Given the description of an element on the screen output the (x, y) to click on. 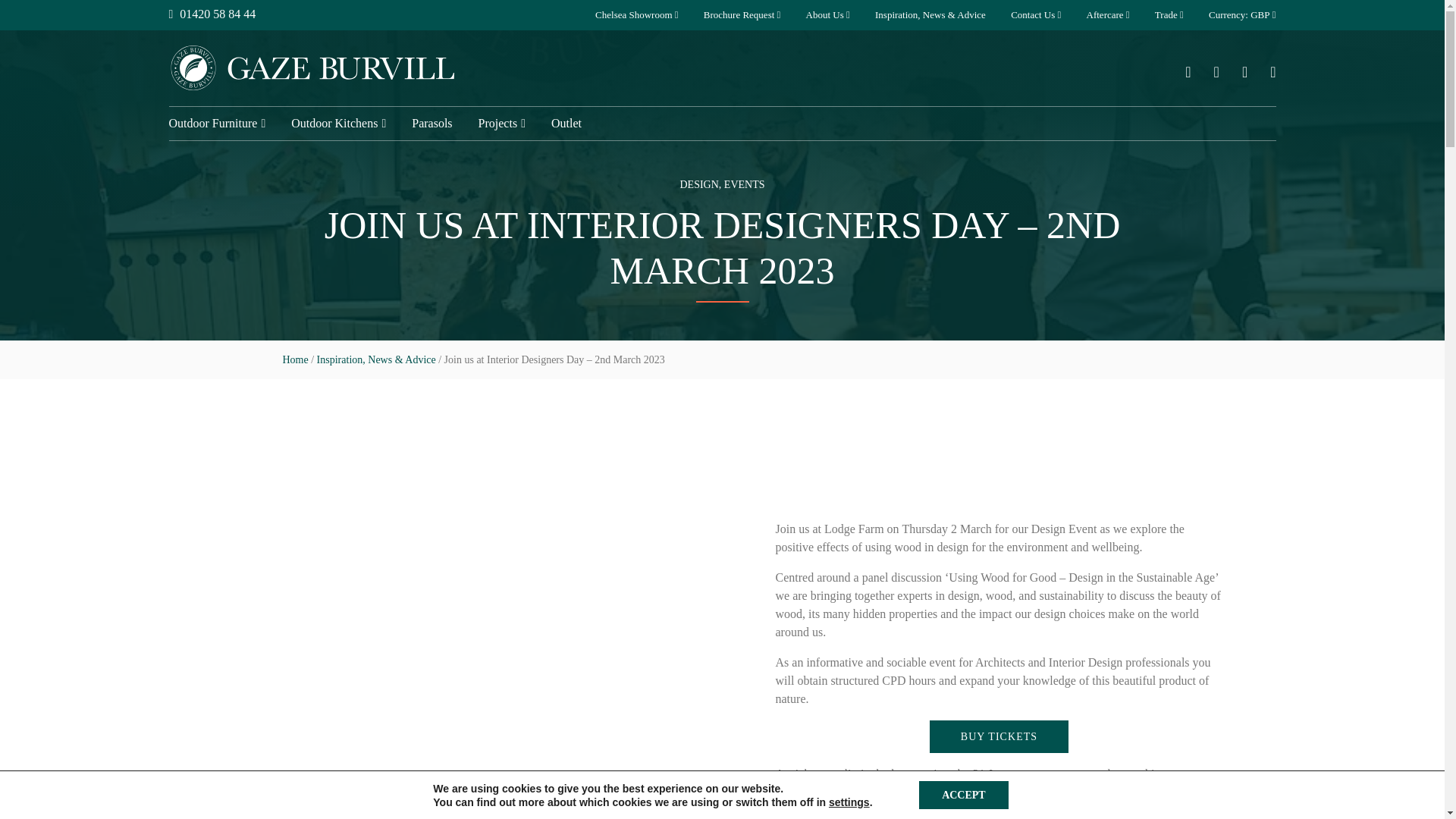
Currency: GBP (1238, 15)
Contact Us (1032, 15)
Outdoor Furniture (212, 122)
Aftercare (1105, 15)
01420 58 84 44 (212, 13)
About Us (825, 15)
Brochure Request (738, 15)
Trade (1165, 15)
Chelsea Showroom (633, 15)
